Given the description of an element on the screen output the (x, y) to click on. 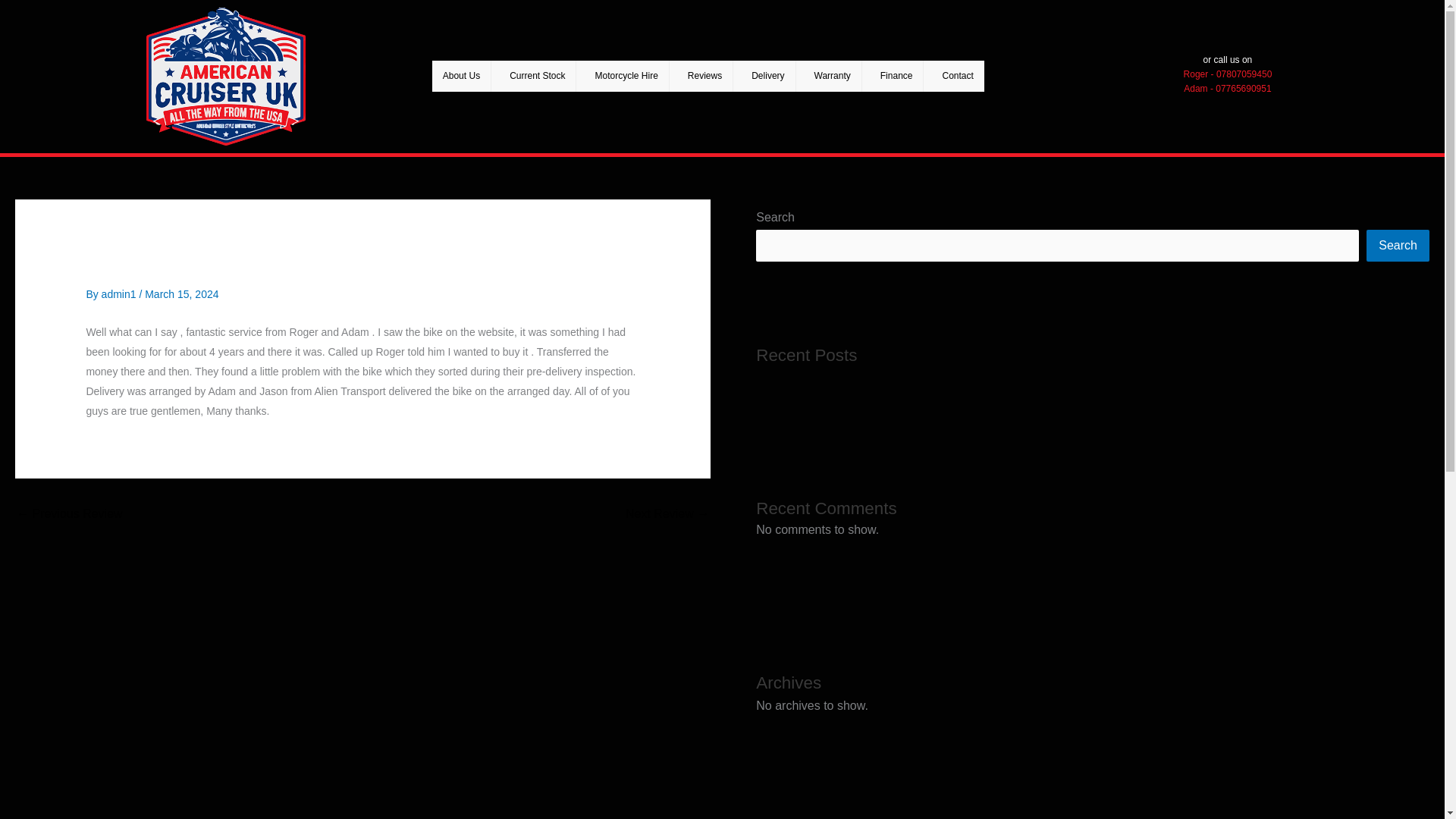
Warranty (832, 75)
We love our bike. (667, 515)
View all posts by admin1 (120, 294)
Roger - 07807059450 (1227, 73)
admin1 (120, 294)
Current Stock (537, 75)
About Us (462, 75)
Adam - 07765690951 (1227, 88)
Motorcycle Hire (625, 75)
Contact (957, 75)
